Given the description of an element on the screen output the (x, y) to click on. 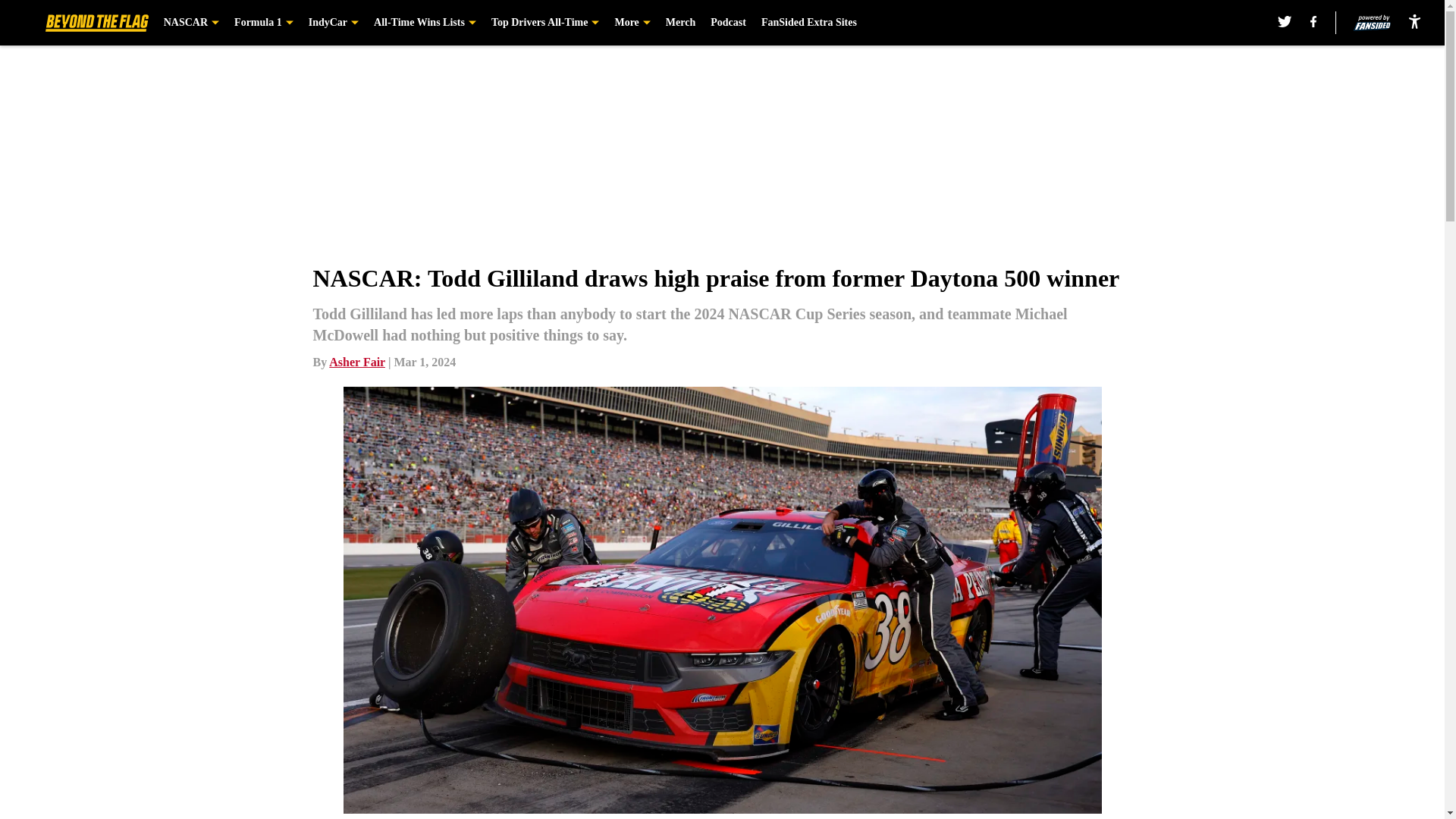
Podcast (727, 22)
Merch (680, 22)
Asher Fair (357, 361)
FanSided Extra Sites (809, 22)
